Given the description of an element on the screen output the (x, y) to click on. 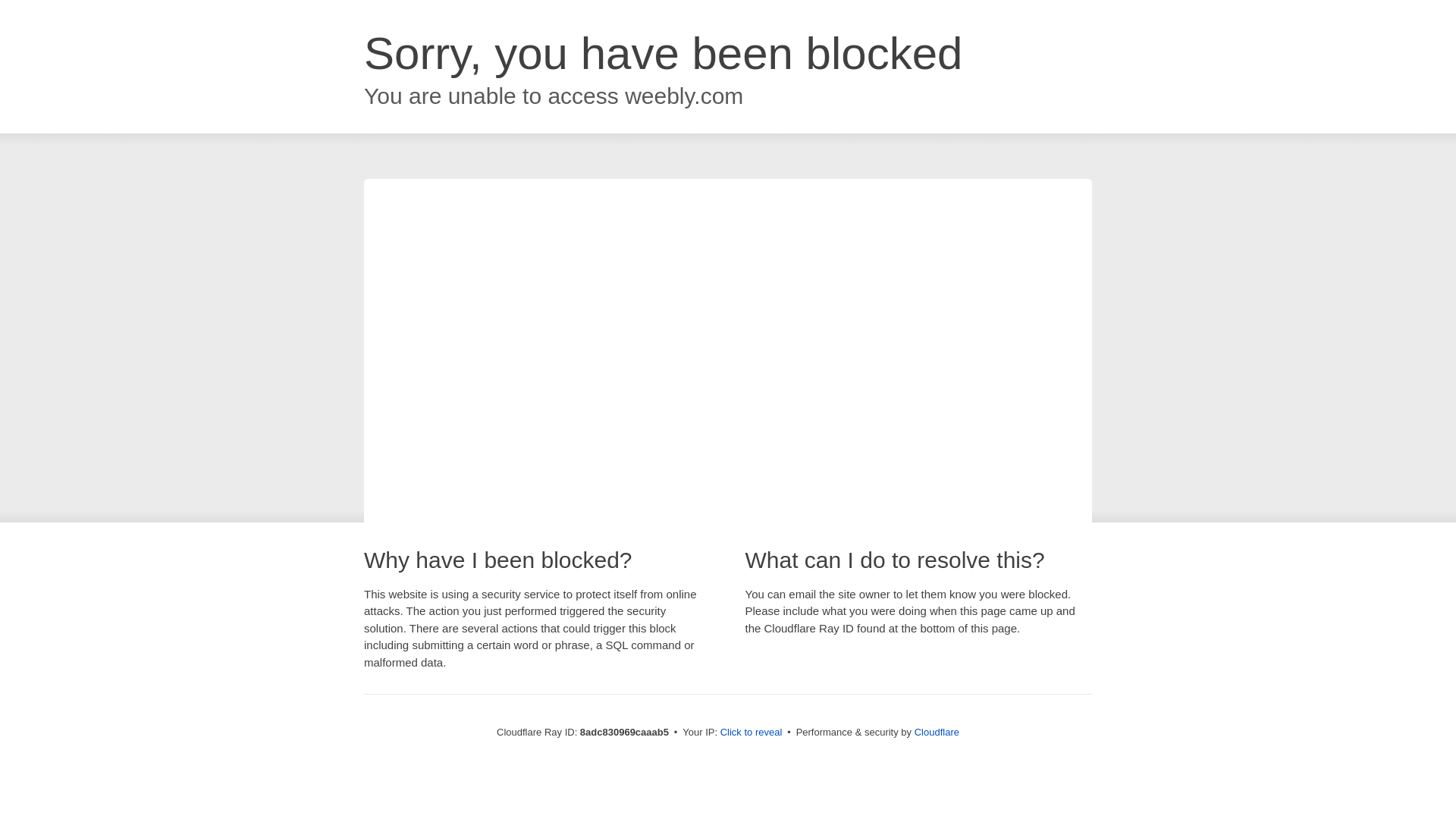
Cloudflare (936, 731)
Click to reveal (751, 732)
